Given the description of an element on the screen output the (x, y) to click on. 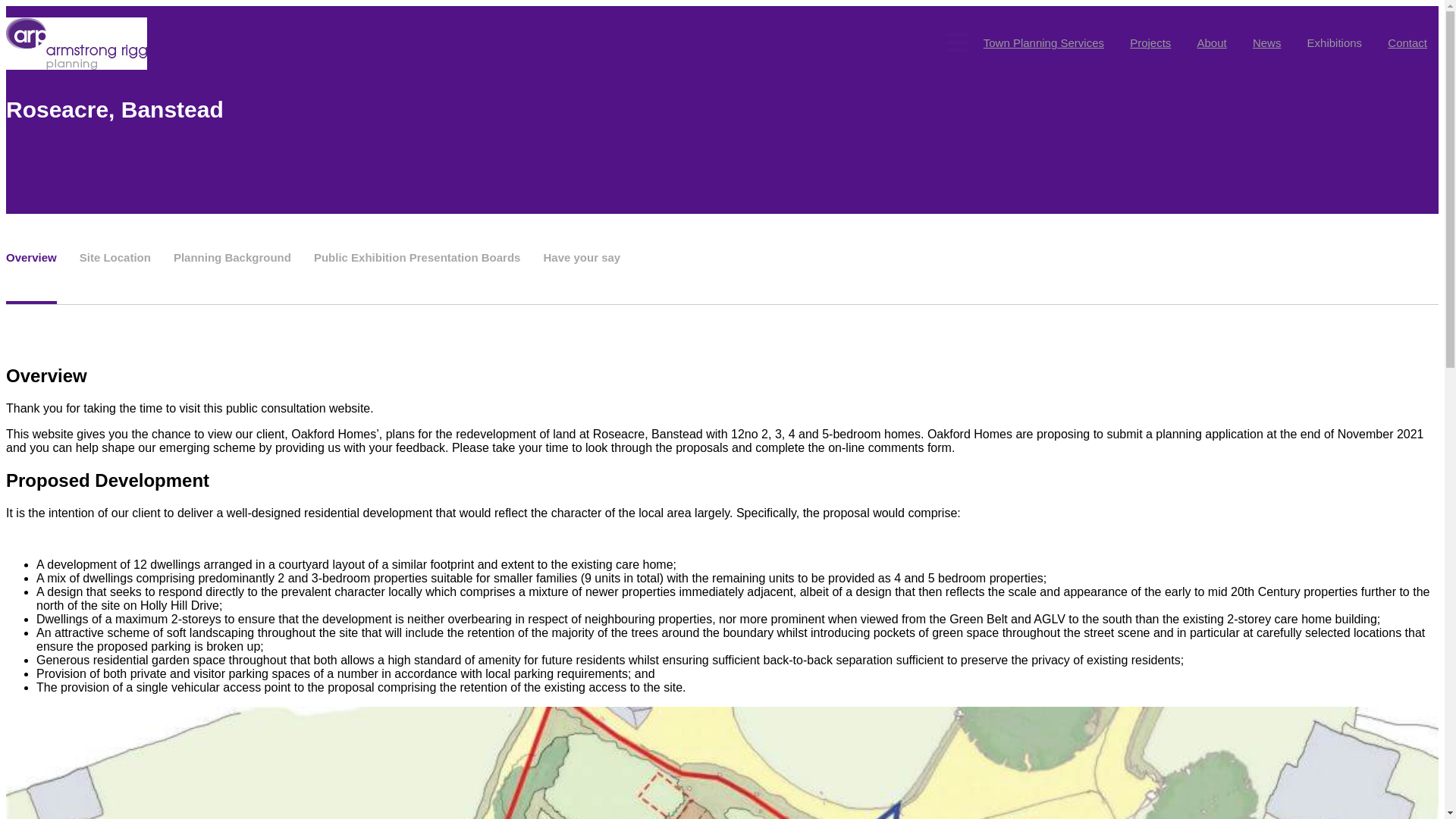
About (1212, 42)
Projects (1150, 42)
News (1266, 42)
Town Planning Services (1043, 42)
